Given the description of an element on the screen output the (x, y) to click on. 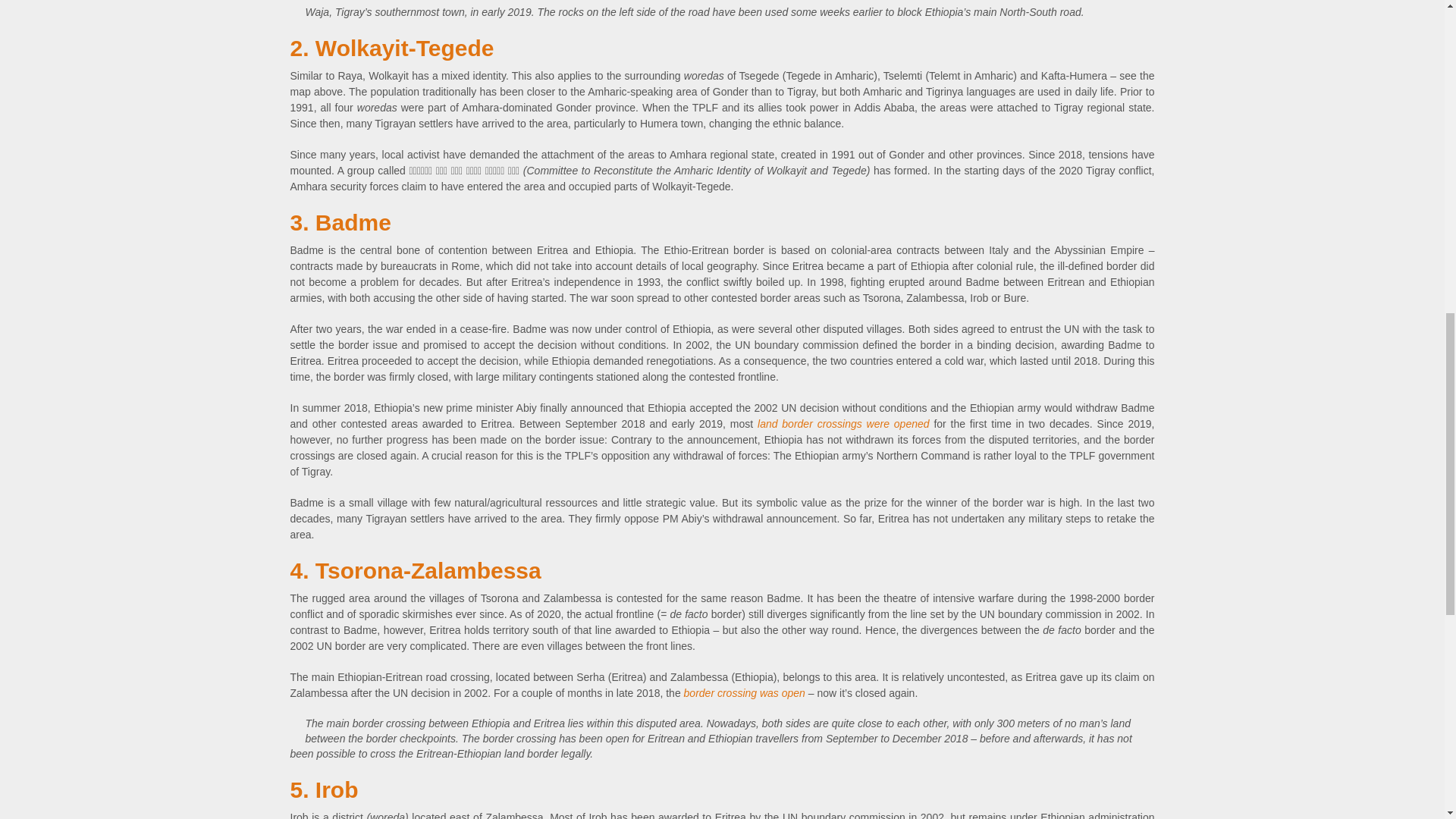
land border crossings were opened (843, 423)
border crossing was open (744, 693)
